Given the description of an element on the screen output the (x, y) to click on. 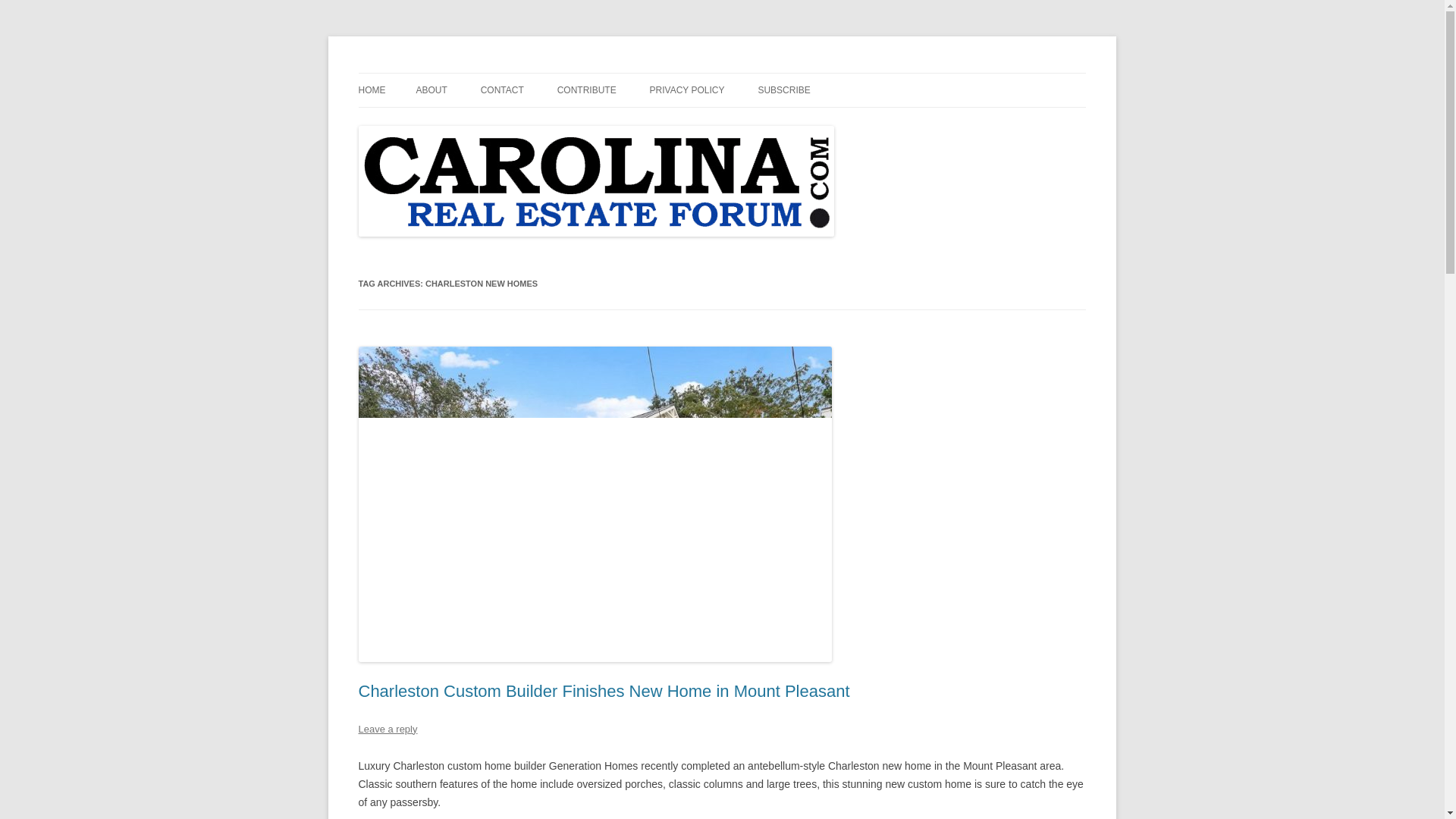
PRIVACY POLICY (687, 90)
CONTACT (502, 90)
CONTRIBUTE (586, 90)
Carolina Real Estate Forum (486, 72)
Leave a reply (387, 728)
SUBSCRIBE (783, 90)
ABOUT (430, 90)
